Given the description of an element on the screen output the (x, y) to click on. 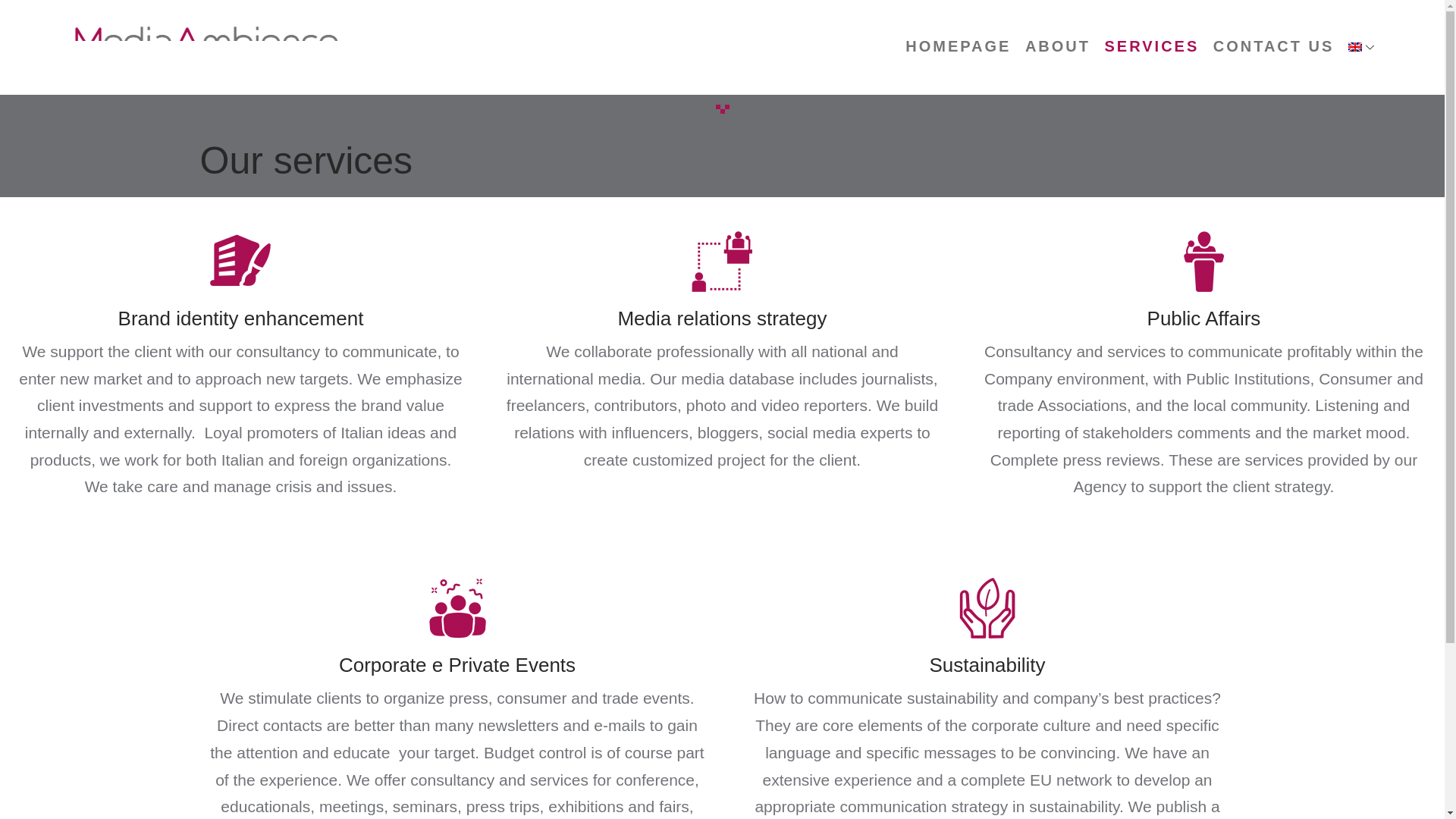
Tavola disegno 1 copia6 (986, 608)
Tavola disegno 14 (456, 608)
Tavola disegno 1 copia 26 (721, 260)
ARROW-DOWN (1360, 46)
ARROW-DOWN (1369, 47)
HOMEPAGE (957, 46)
CONTACT US (1273, 46)
Tavola disegno 1 copia 36 (1203, 260)
Tavola disegno 1 copia 46 (239, 260)
SERVICES (1151, 46)
